Given the description of an element on the screen output the (x, y) to click on. 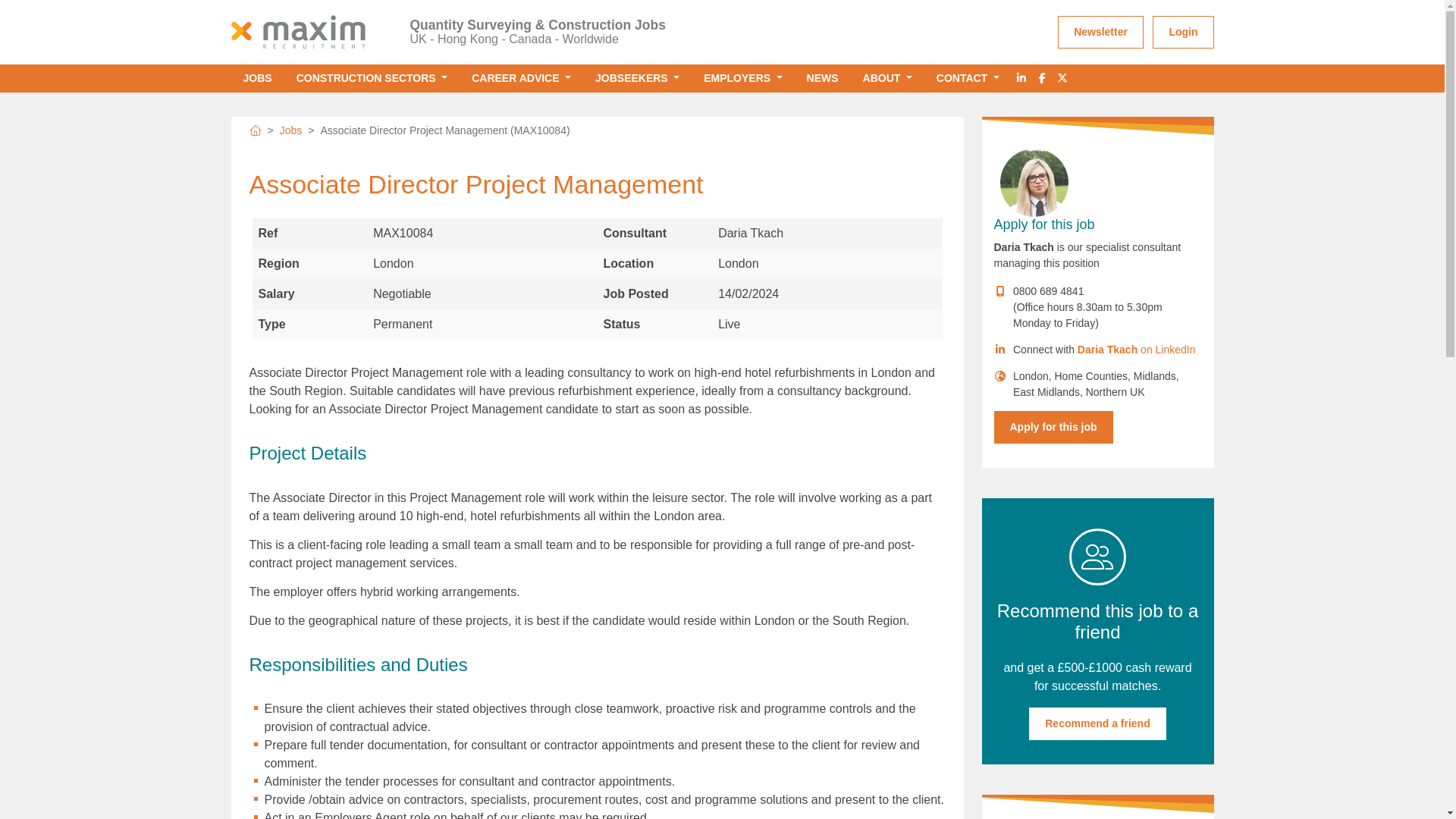
JOBS (256, 78)
CONSTRUCTION SECTORS (371, 78)
Login (1182, 31)
JOBSEEKERS (637, 78)
Newsletter (1100, 31)
CAREER ADVICE (521, 78)
